Given the description of an element on the screen output the (x, y) to click on. 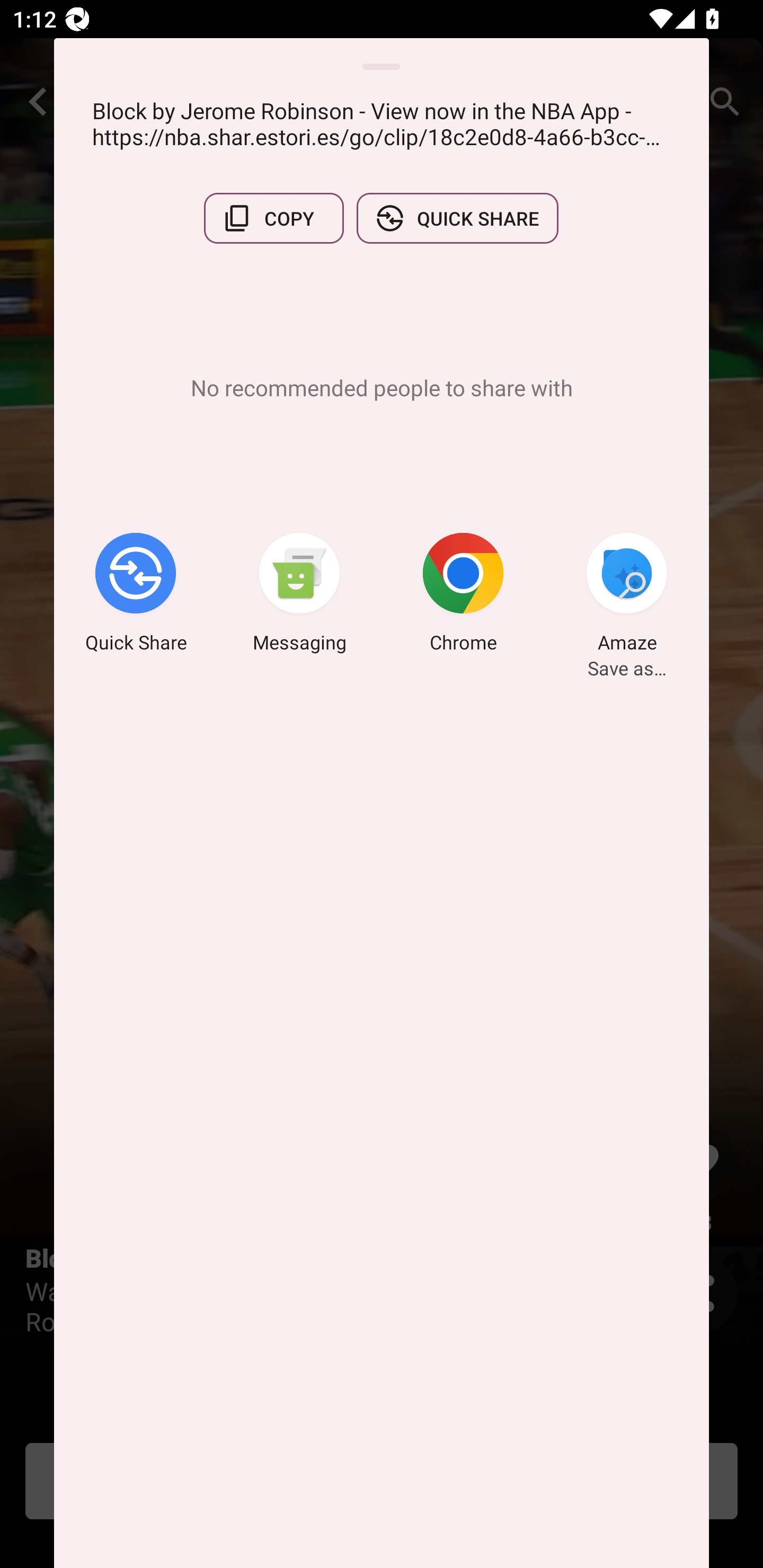
COPY (273, 218)
QUICK SHARE (457, 218)
Quick Share (135, 594)
Messaging (299, 594)
Chrome (463, 594)
Amaze Save as… (626, 594)
